Given the description of an element on the screen output the (x, y) to click on. 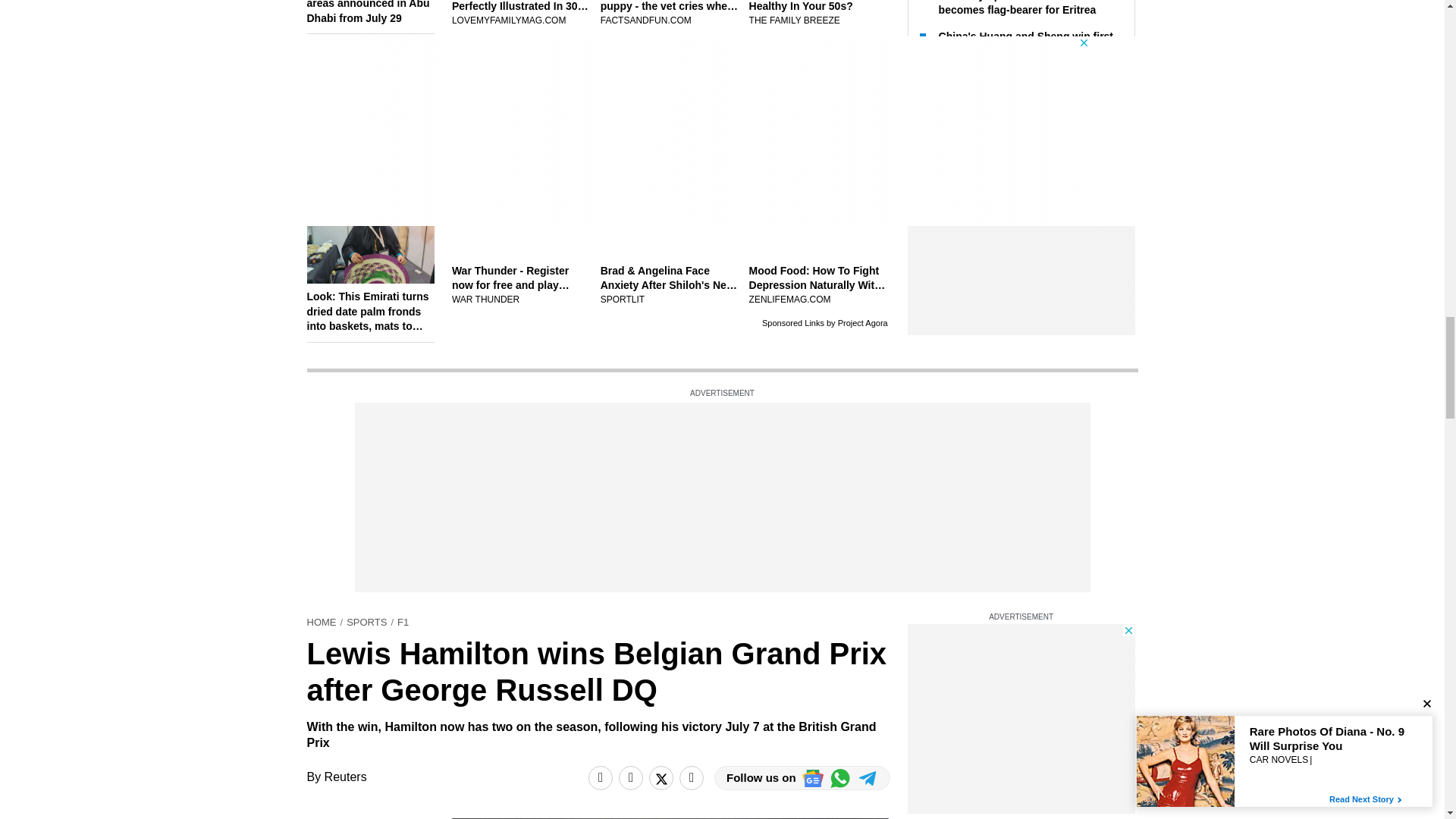
Hair Transplant - Could Be More Affordable Than Some Expect (669, 145)
Why Margarine Is Not Healthy In Your 50s? (818, 13)
